Given the description of an element on the screen output the (x, y) to click on. 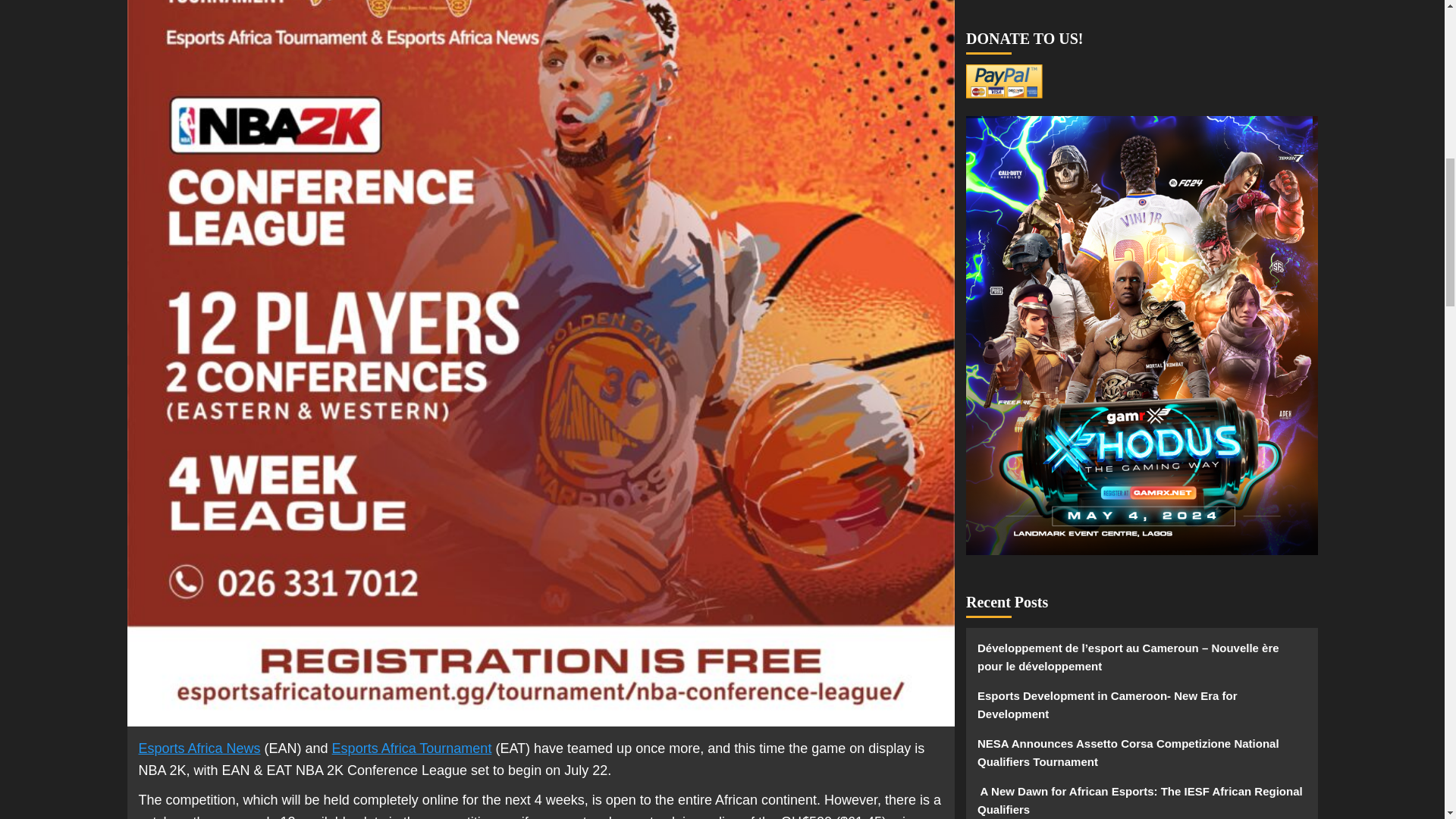
Esports Africa News (199, 748)
Esports Africa Tournament (411, 748)
